Given the description of an element on the screen output the (x, y) to click on. 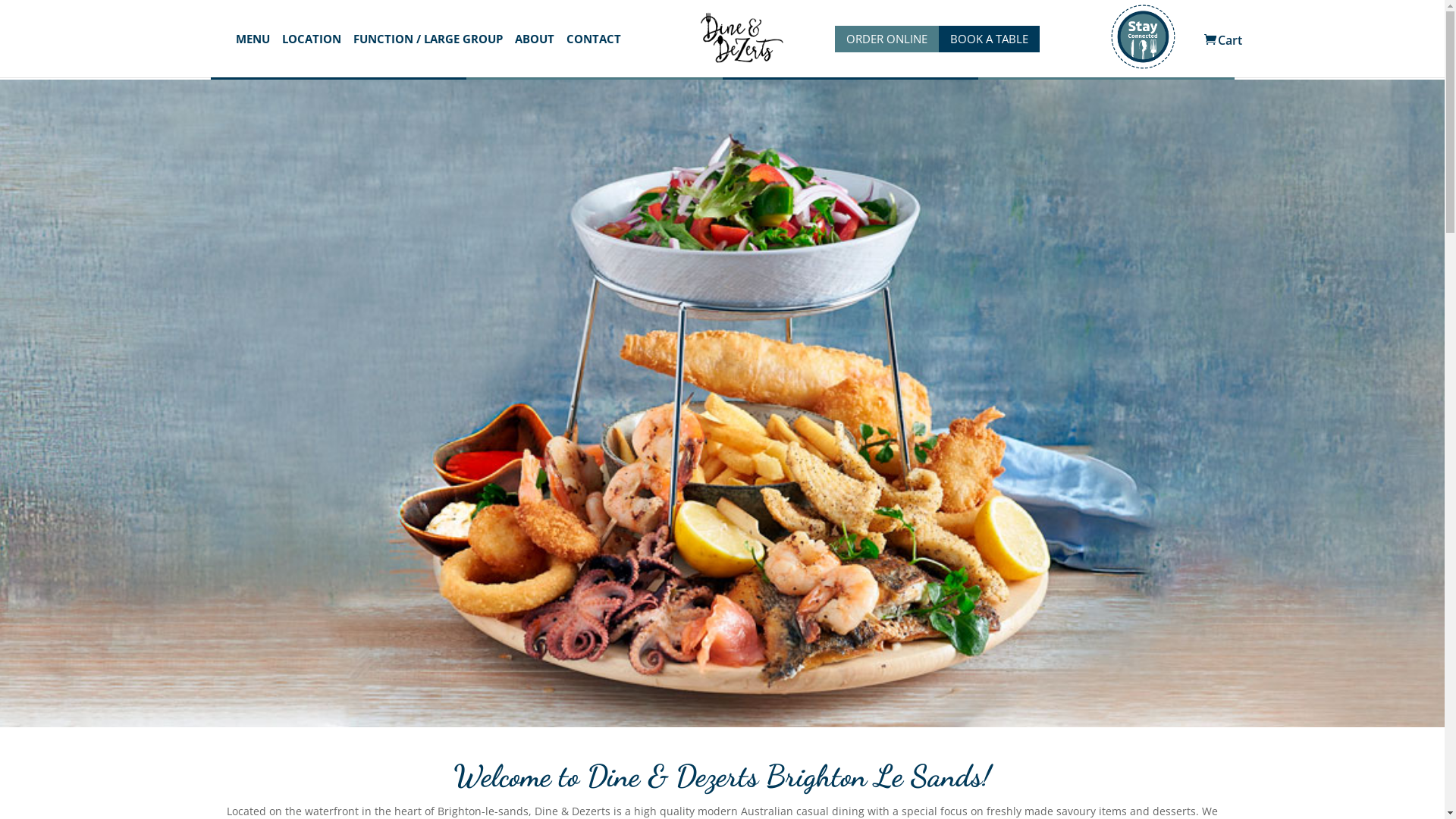
LOCATION Element type: text (311, 55)
Menu Element type: text (594, 63)
FUNCTION / LARGE GROUP Element type: text (427, 55)
ORDER ONLINE Element type: text (886, 38)
CONTACT Element type: text (592, 55)
Book A Table Element type: text (1106, 63)
MENU Element type: text (252, 55)
ABOUT Element type: text (533, 55)
BOOK A TABLE Element type: text (988, 38)
Functions & Events Element type: text (849, 63)
Pick Up Online Element type: text (338, 63)
